Given the description of an element on the screen output the (x, y) to click on. 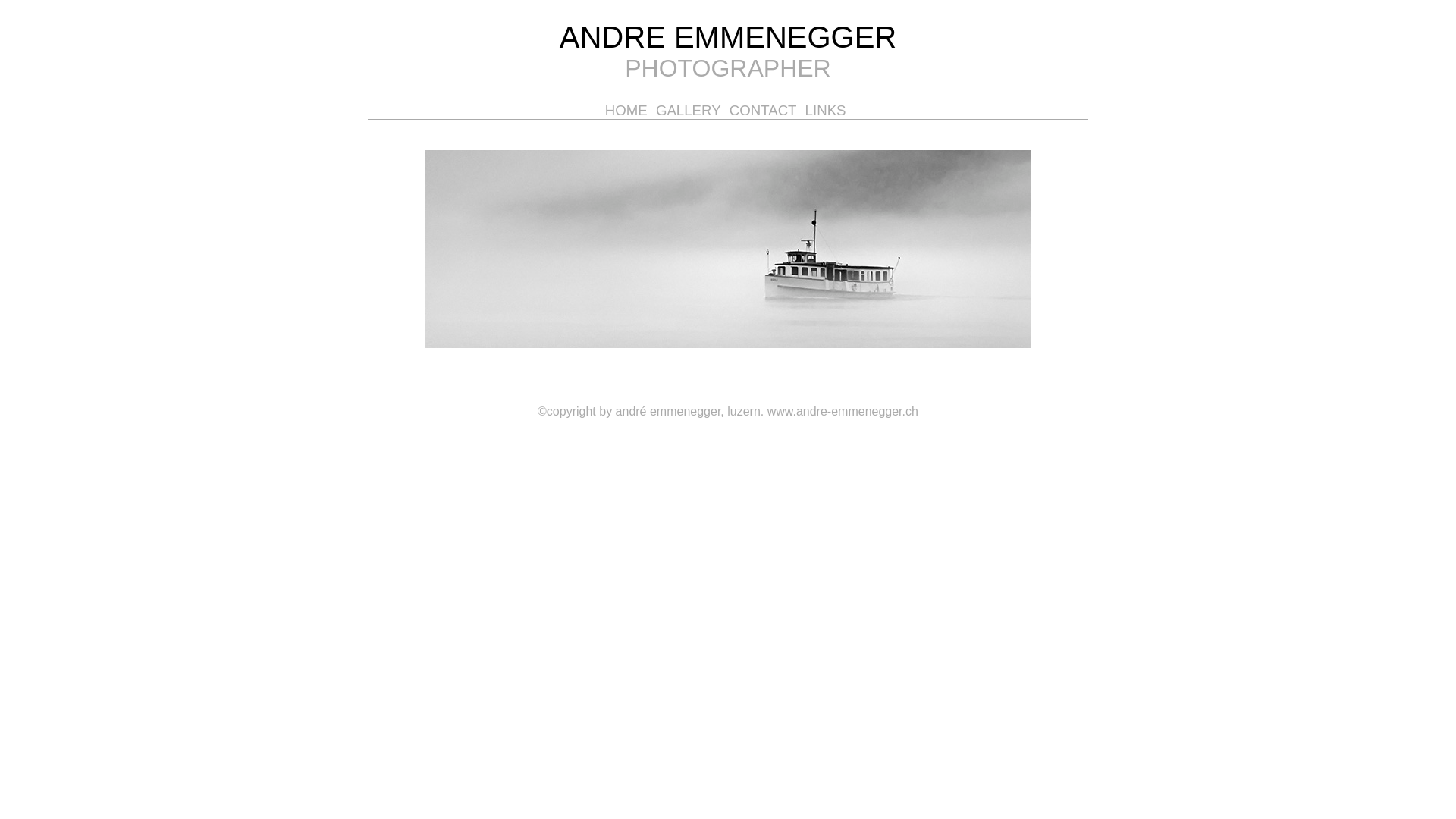
GALLERY Element type: text (690, 110)
CONTACT Element type: text (765, 110)
HOME Element type: text (628, 110)
LINKS Element type: text (828, 110)
